Given the description of an element on the screen output the (x, y) to click on. 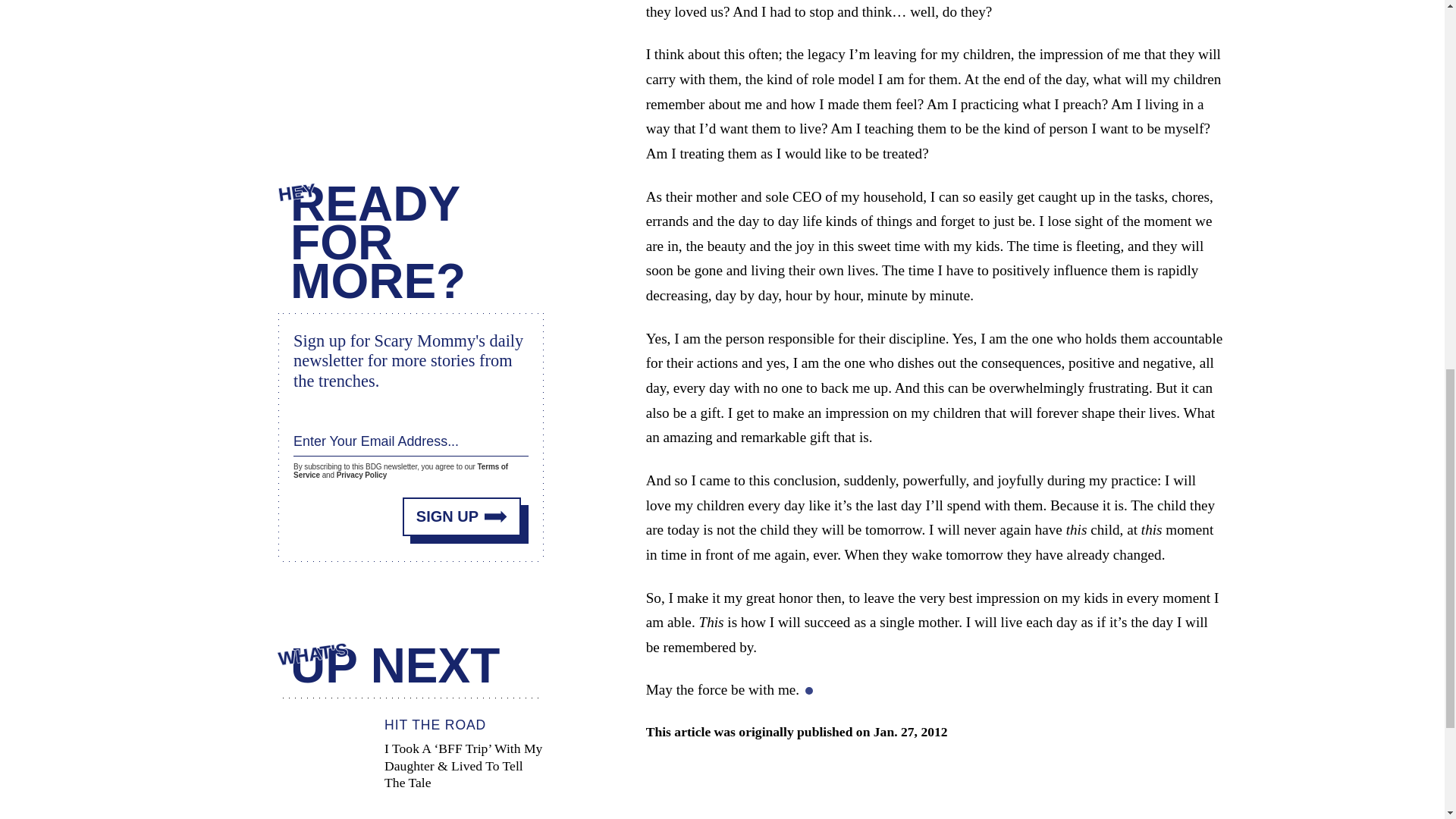
SIGN UP (462, 507)
Privacy Policy (361, 470)
Terms of Service (401, 464)
